Given the description of an element on the screen output the (x, y) to click on. 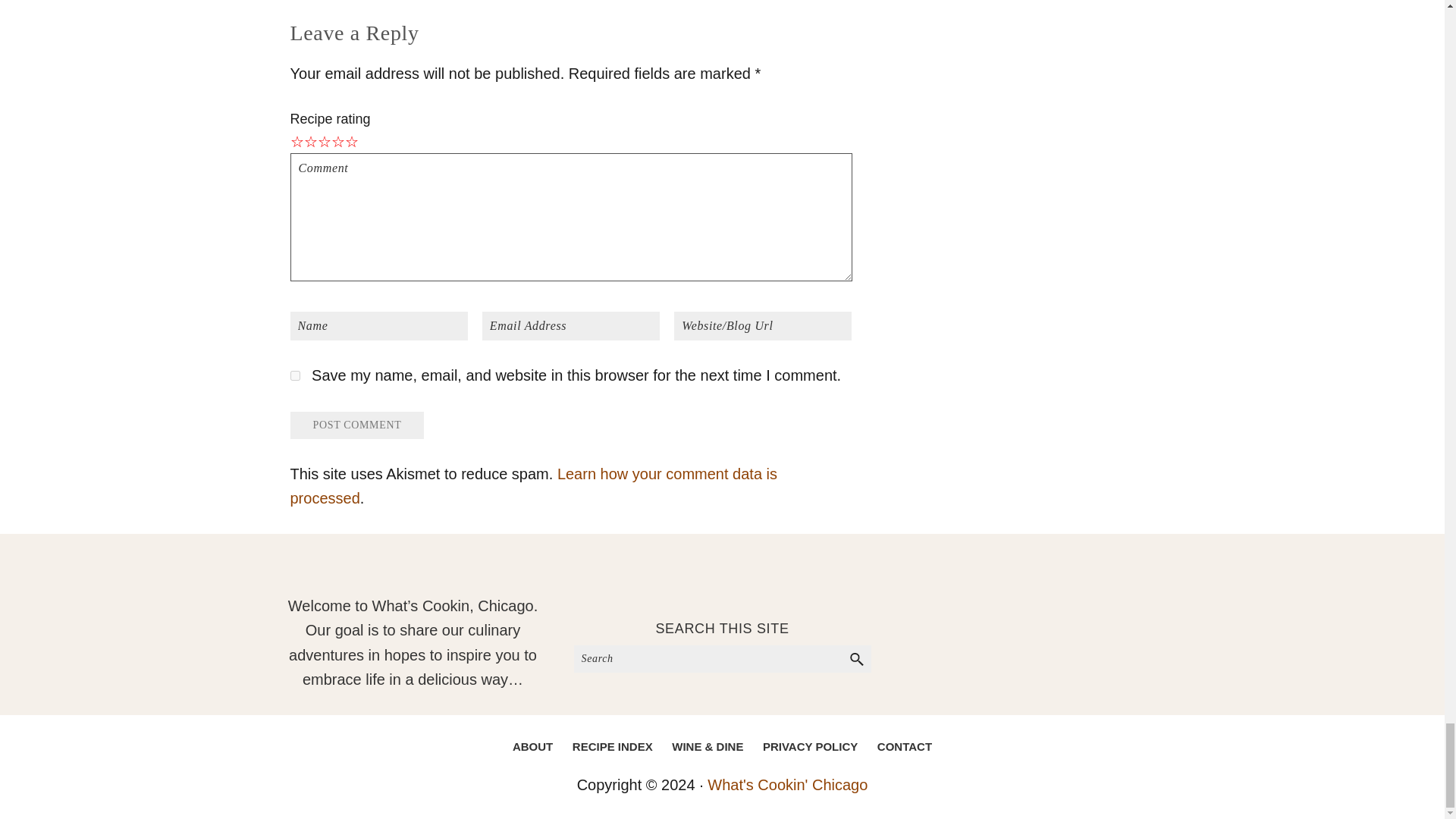
Post Comment (356, 424)
yes (294, 375)
